Given the description of an element on the screen output the (x, y) to click on. 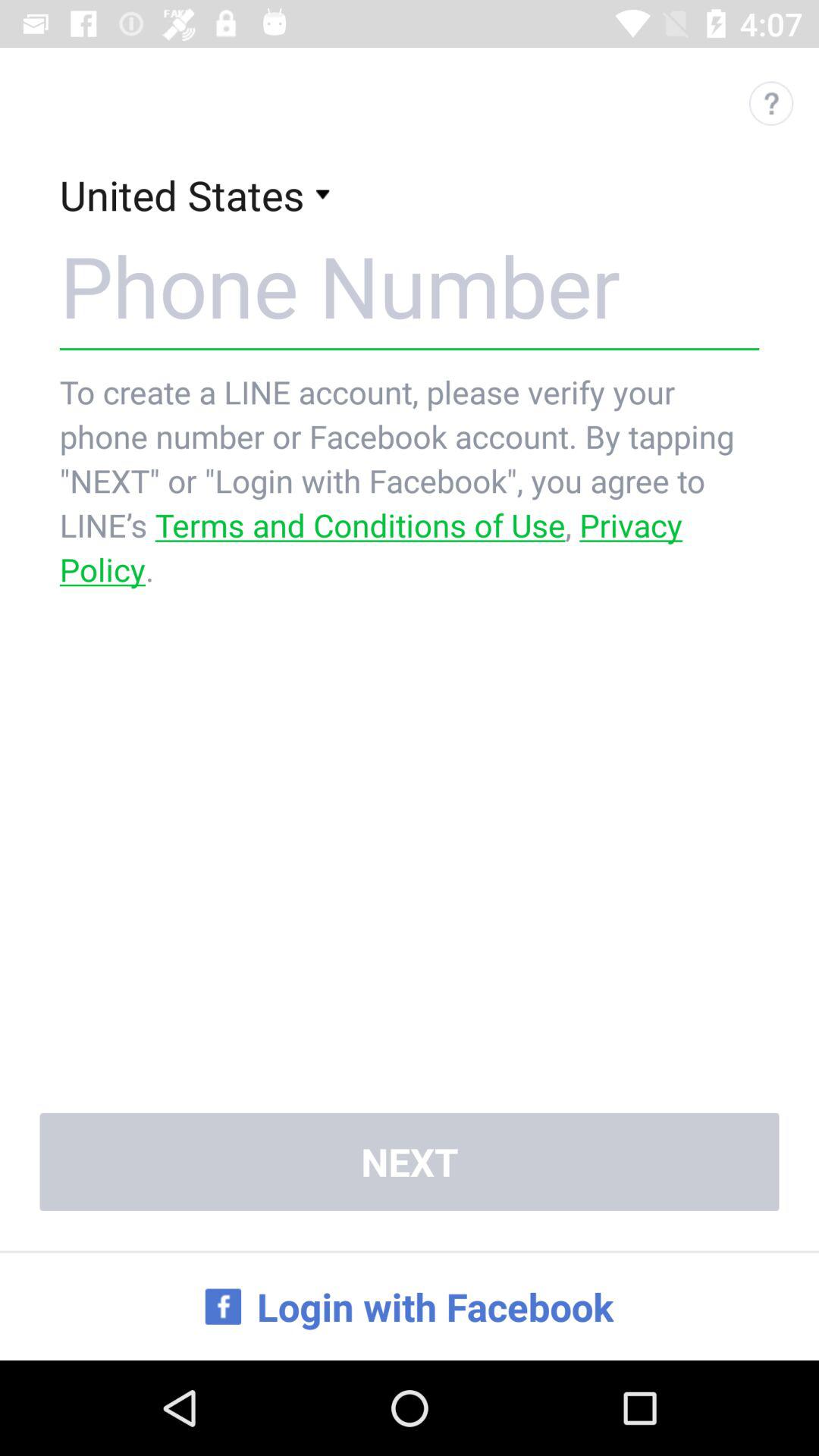
press the to create a app (409, 480)
